Given the description of an element on the screen output the (x, y) to click on. 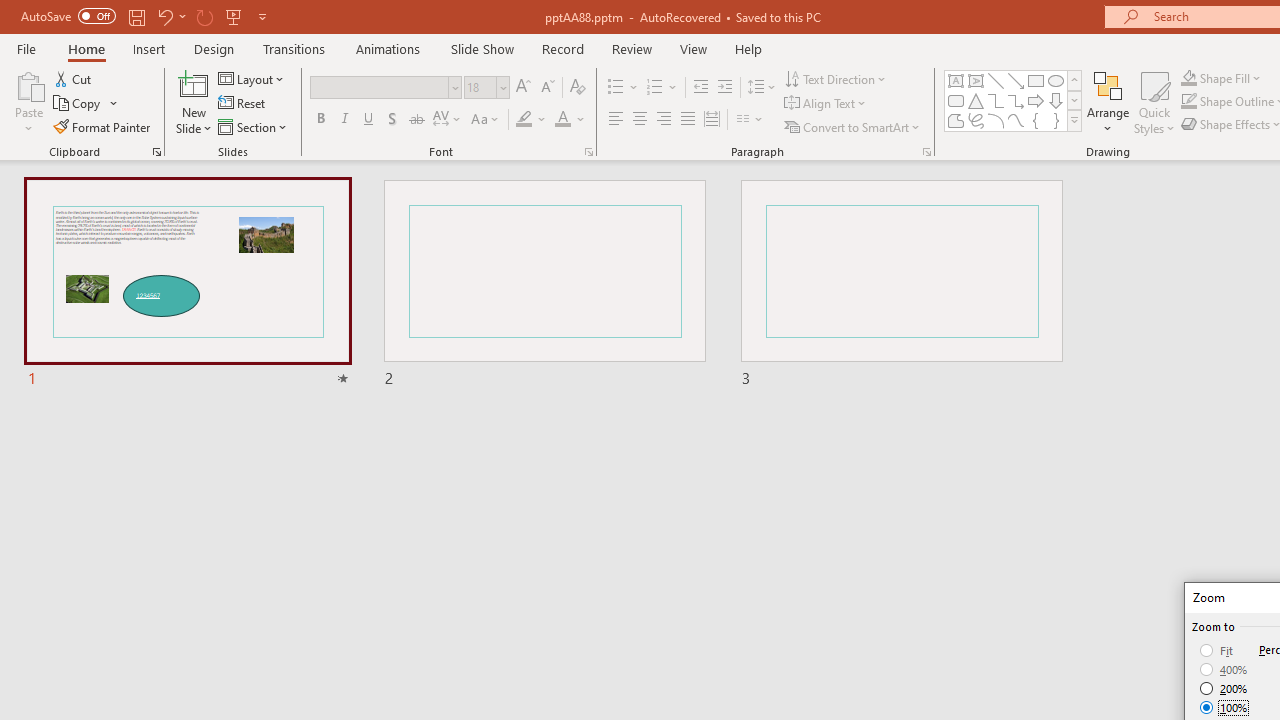
200% (1224, 688)
